Given the description of an element on the screen output the (x, y) to click on. 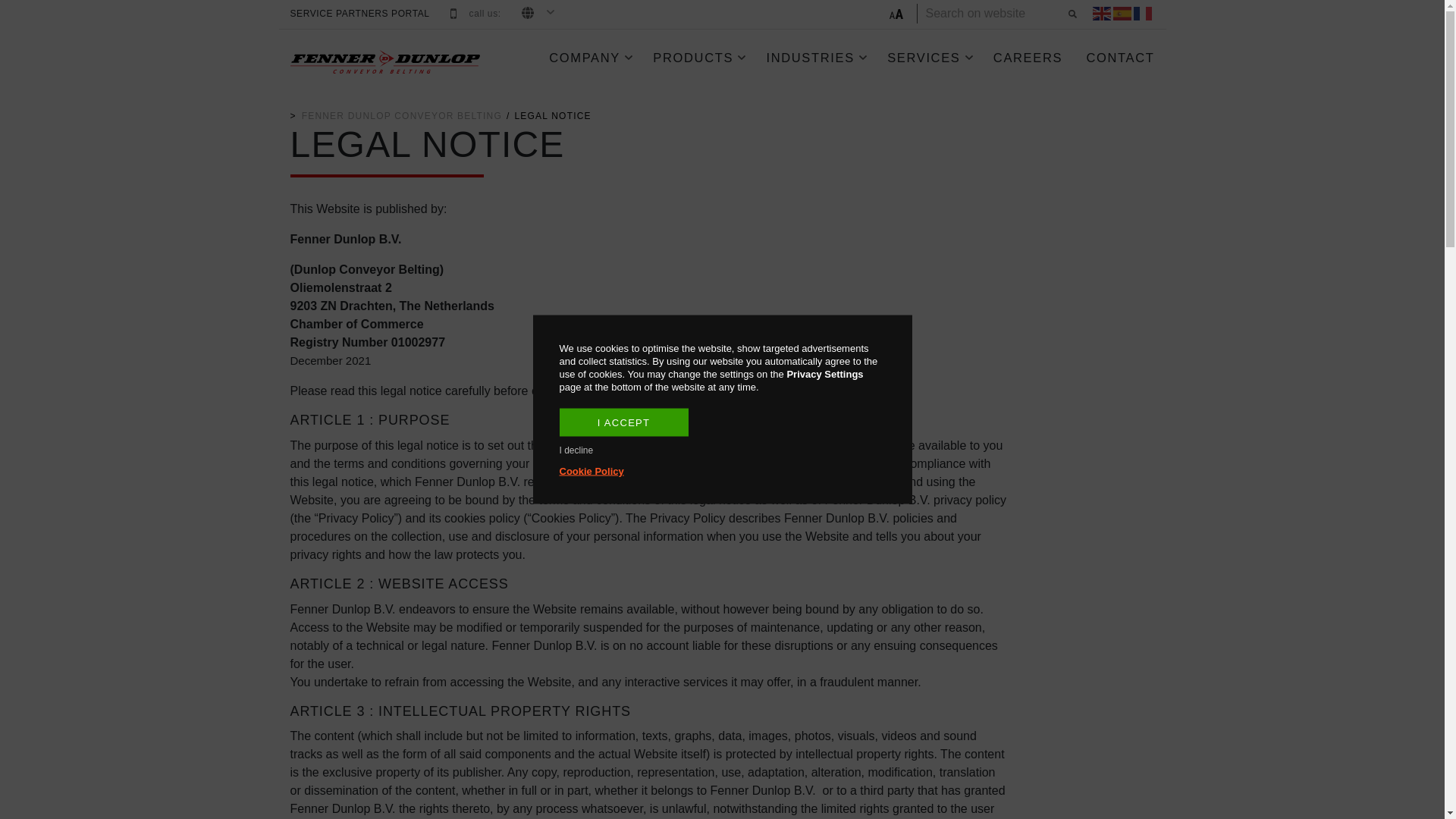
PRODUCTS (698, 57)
English (1101, 13)
COMPANY (589, 57)
call us: (484, 13)
Dunlop CB (401, 115)
INDUSTRIES (815, 57)
SERVICE PARTNERS PORTAL (359, 13)
